Given the description of an element on the screen output the (x, y) to click on. 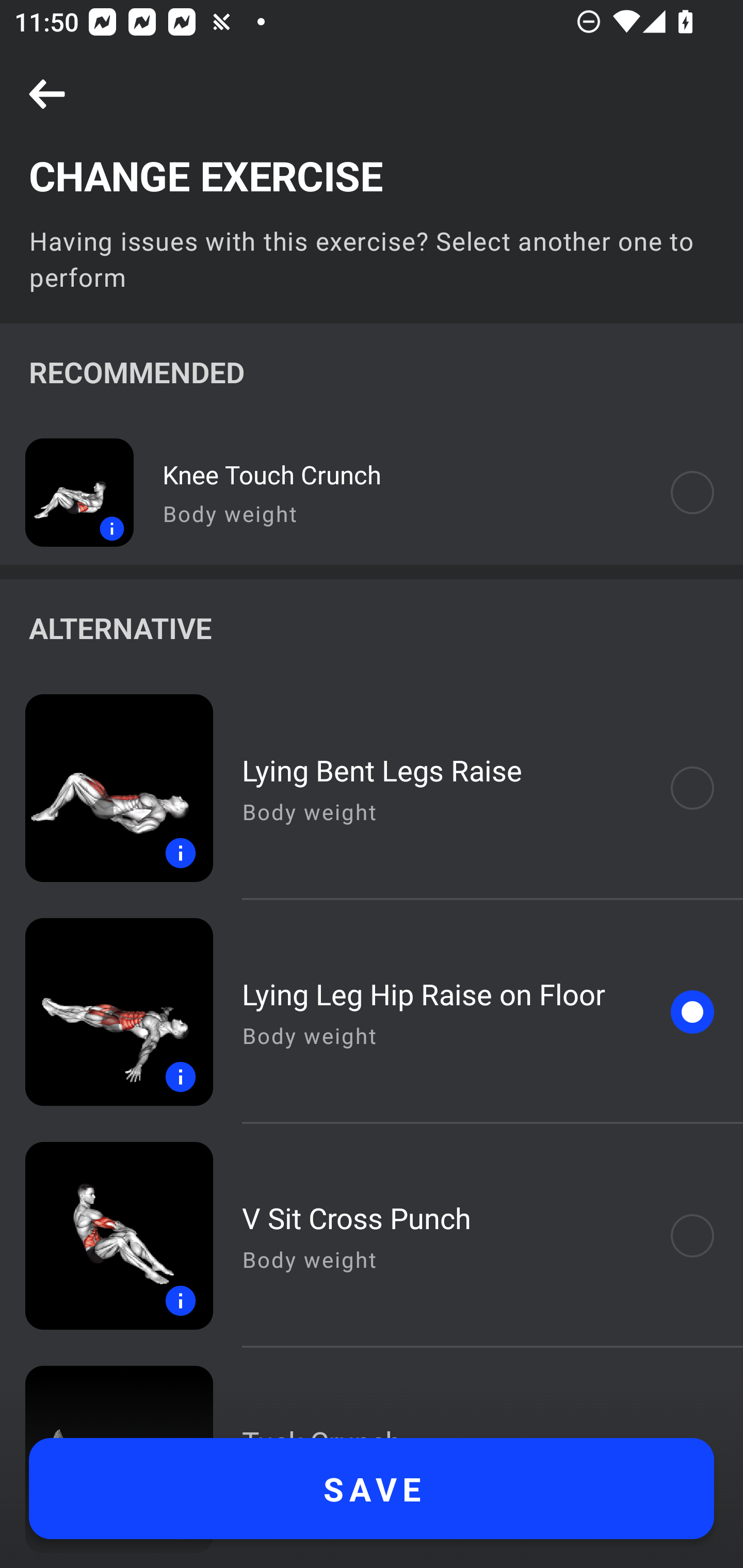
Navigation icon (46, 94)
details Knee Touch Crunch Body weight (371, 492)
details (66, 492)
details Lying Bent Legs Raise Body weight (371, 787)
details (106, 787)
details Lying Leg Hip Raise on Floor Body weight (371, 1012)
details (106, 1012)
details V Sit Cross Punch Body weight (371, 1236)
details (106, 1236)
SAVE (371, 1488)
